Given the description of an element on the screen output the (x, y) to click on. 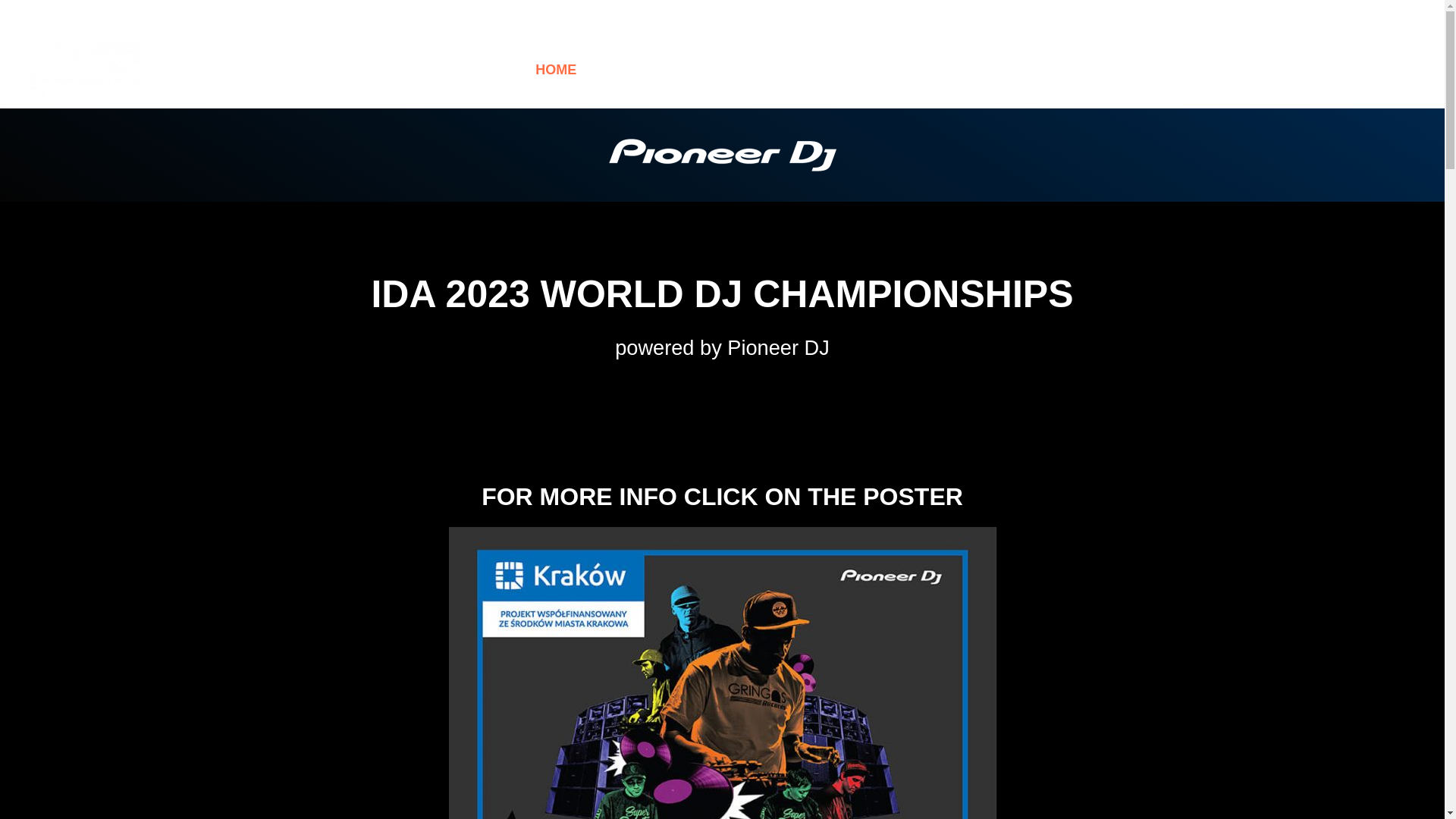
HISTORY (633, 69)
RULES (792, 69)
CONTACT (876, 69)
VIDEOS (716, 69)
HOME (555, 69)
